Given the description of an element on the screen output the (x, y) to click on. 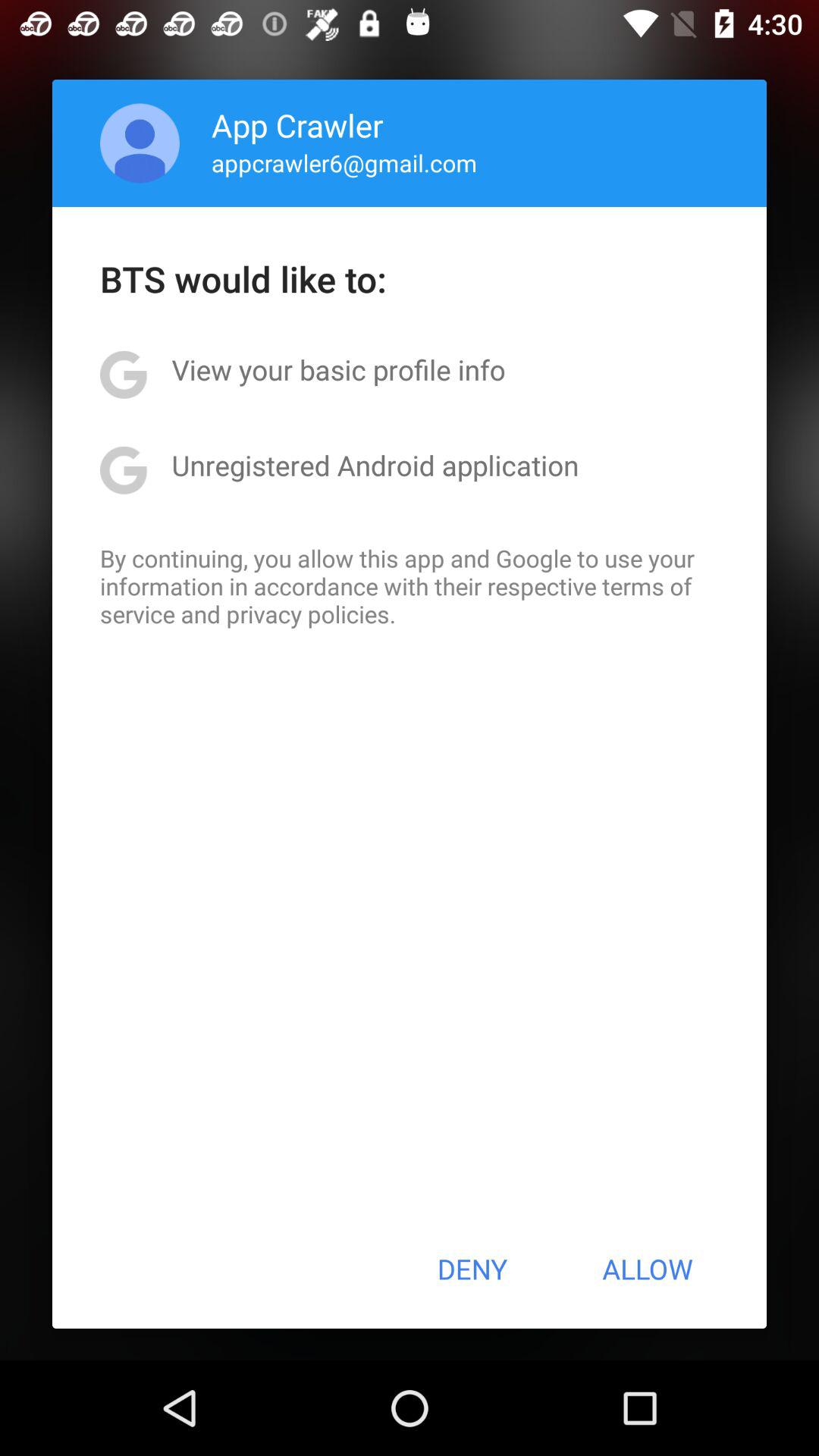
turn off deny button (471, 1268)
